Given the description of an element on the screen output the (x, y) to click on. 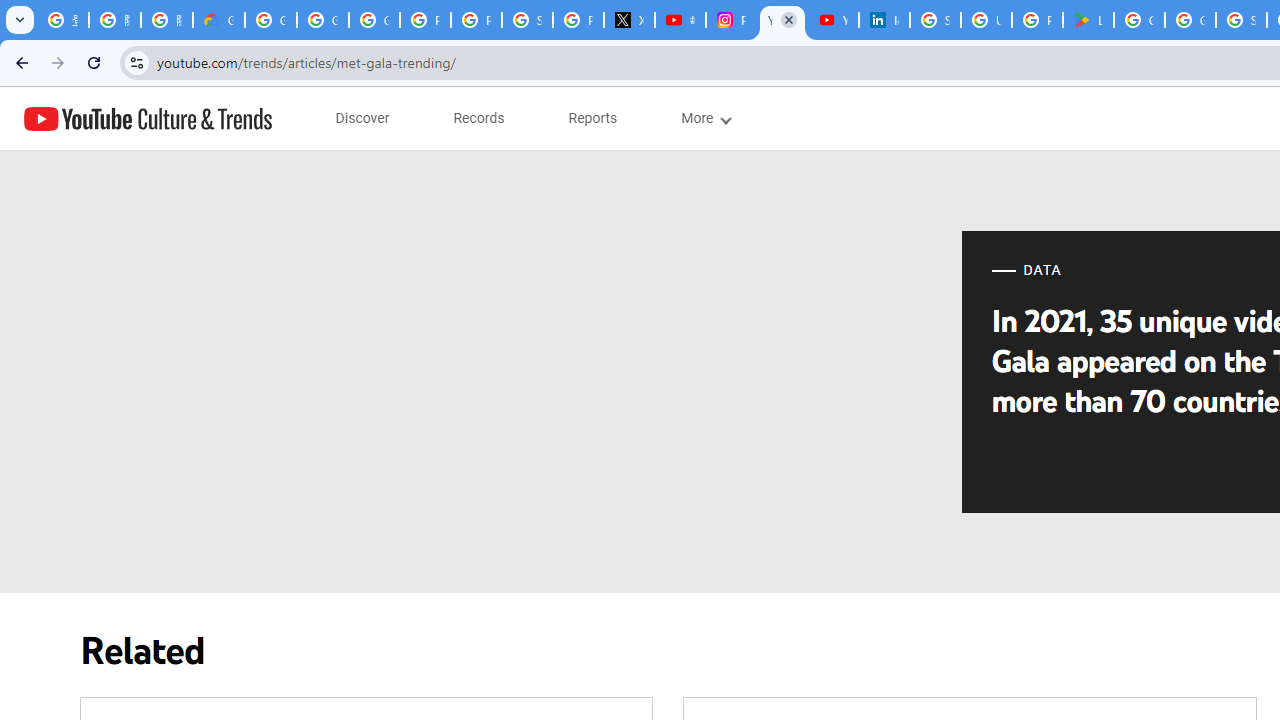
Last Shelter: Survival - Apps on Google Play (1087, 20)
YouTube Culture & Trends - YouTube Top 10, 2021 (832, 20)
subnav-Records menupopup (479, 118)
subnav-Records menupopup (479, 118)
Privacy Help Center - Policies Help (475, 20)
YouTube Culture & Trends (147, 118)
subnav-Discover menupopup (362, 118)
